Given the description of an element on the screen output the (x, y) to click on. 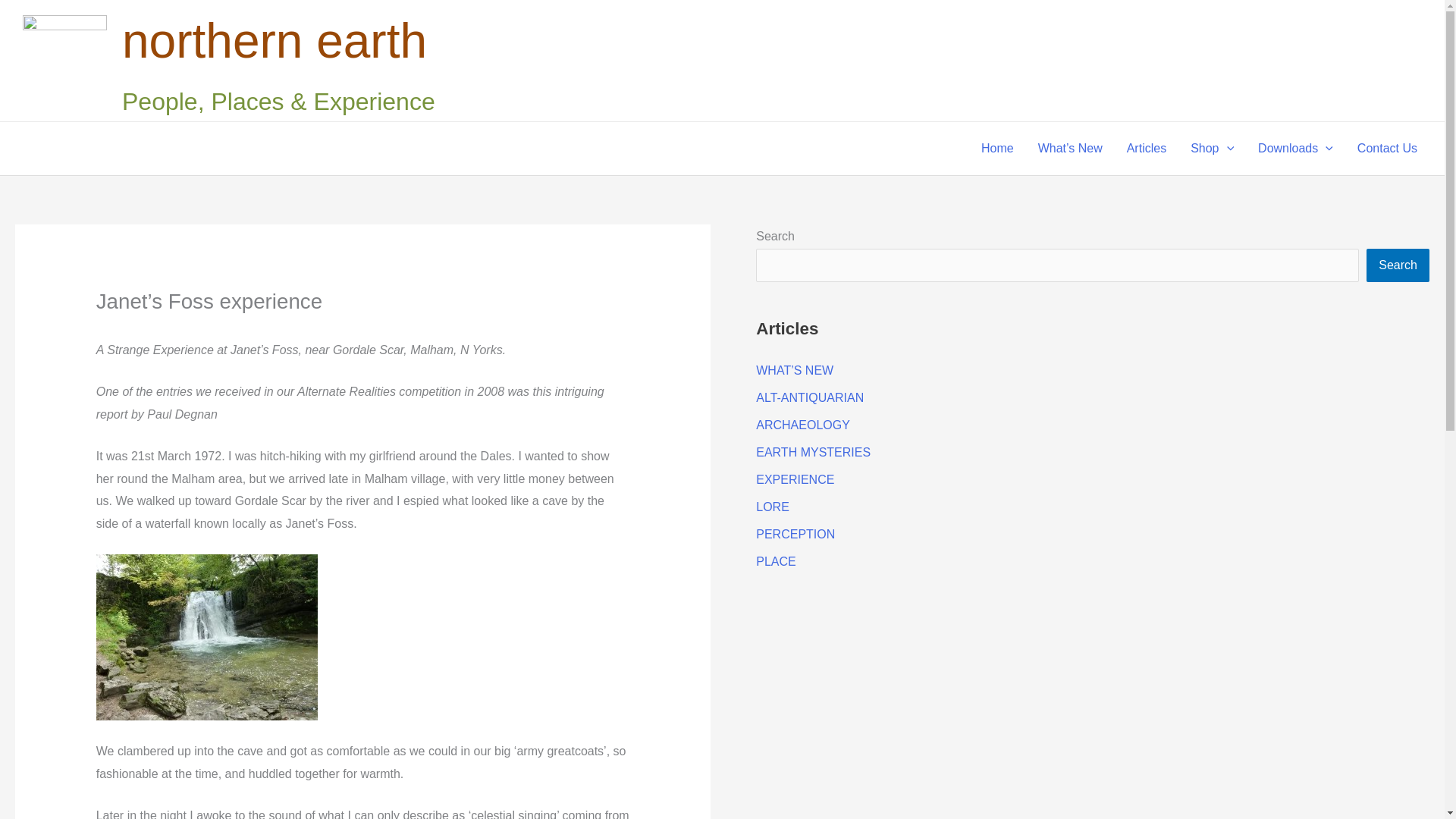
Home (997, 148)
Downloads (1295, 148)
Articles (1146, 148)
Search (1398, 264)
Shop (1211, 148)
Contact Us (1387, 148)
